Given the description of an element on the screen output the (x, y) to click on. 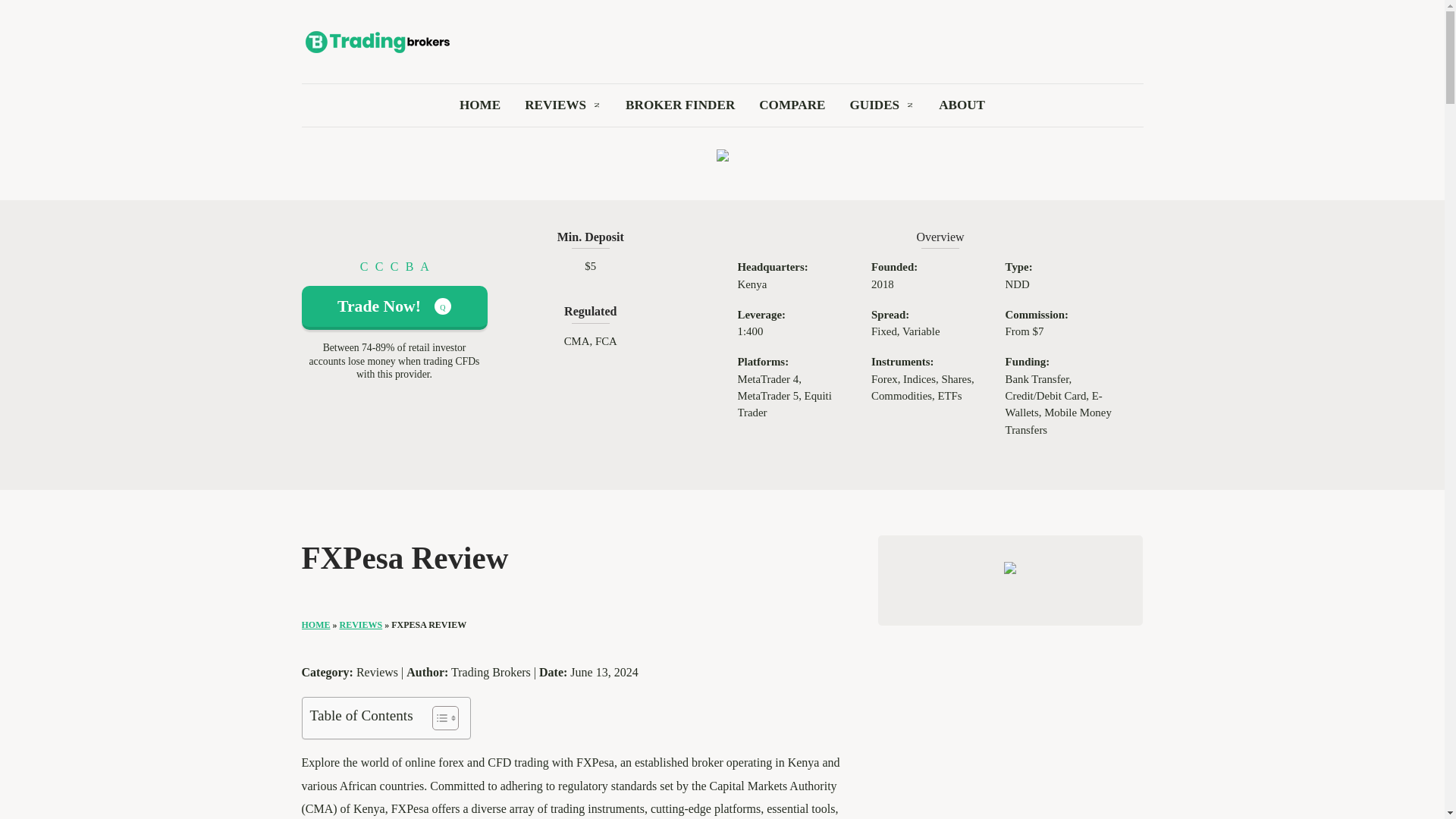
COMPARE (791, 110)
HOME (480, 110)
REVIEWS (555, 110)
BROKER FINDER (680, 110)
ABOUT (962, 110)
GUIDES (873, 110)
